Given the description of an element on the screen output the (x, y) to click on. 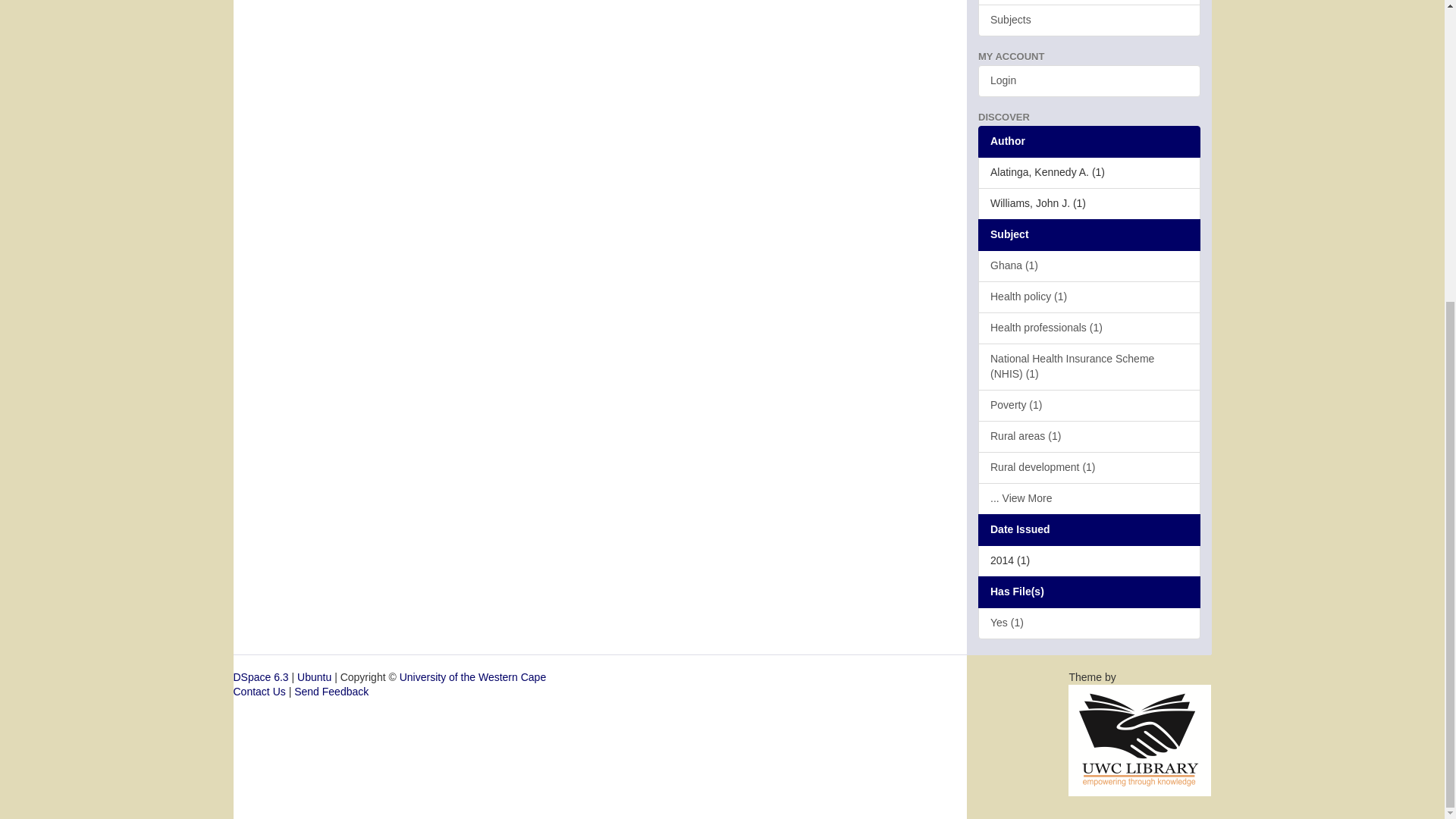
Atmire NV (1139, 739)
